Given the description of an element on the screen output the (x, y) to click on. 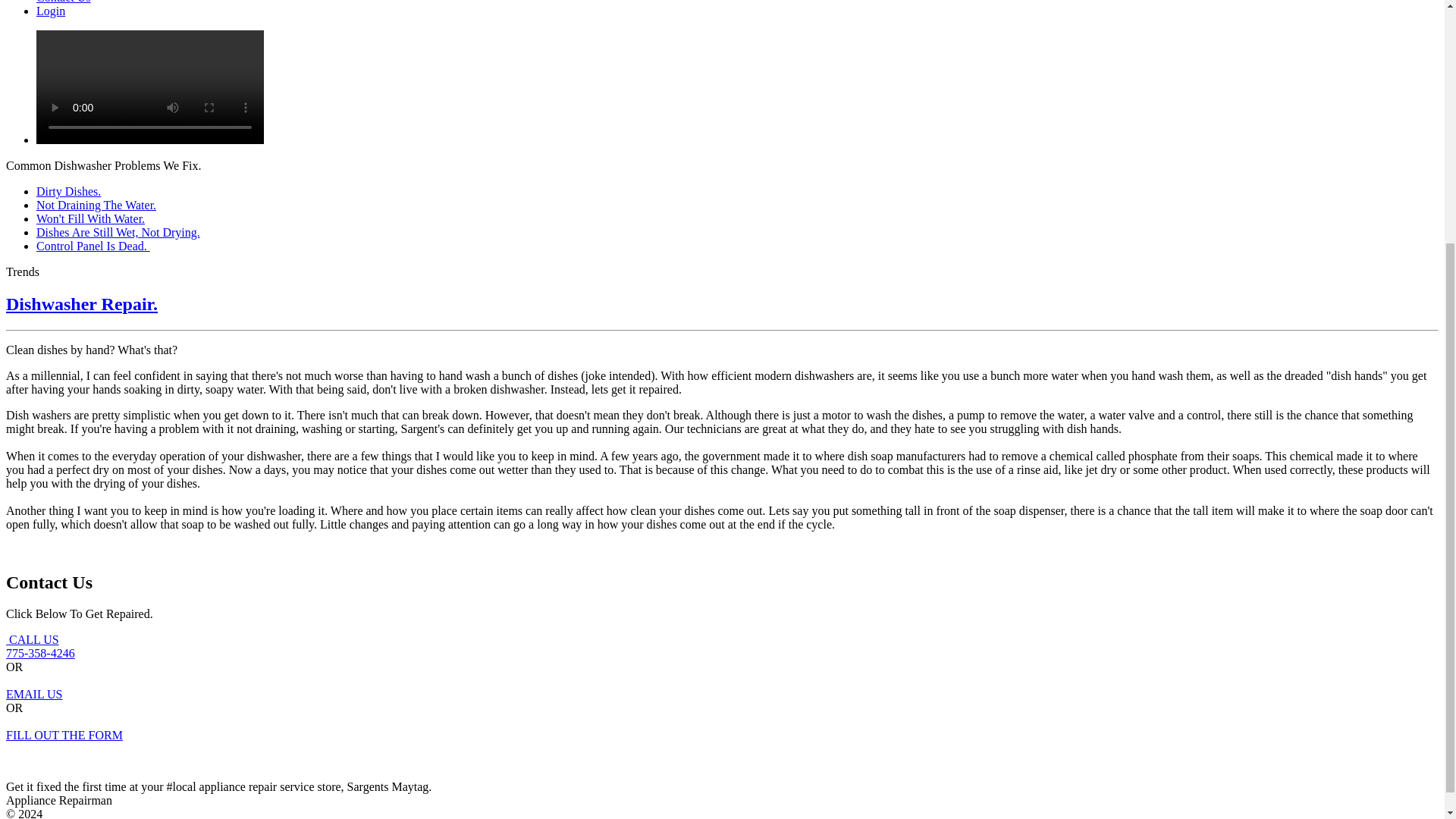
Dishwasher Repair. (81, 303)
Dishes Are Still Wet, Not Drying. (118, 232)
Click here to view Contact Us (63, 2)
Dirty Dishes. (68, 191)
Login (50, 10)
FILL OUT THE FORM (63, 741)
Not Draining The Water. (40, 646)
Control Panel Is Dead.  (95, 205)
EMAIL US (92, 245)
Won't Fill With Water. (33, 700)
Contact Us (90, 218)
